Given the description of an element on the screen output the (x, y) to click on. 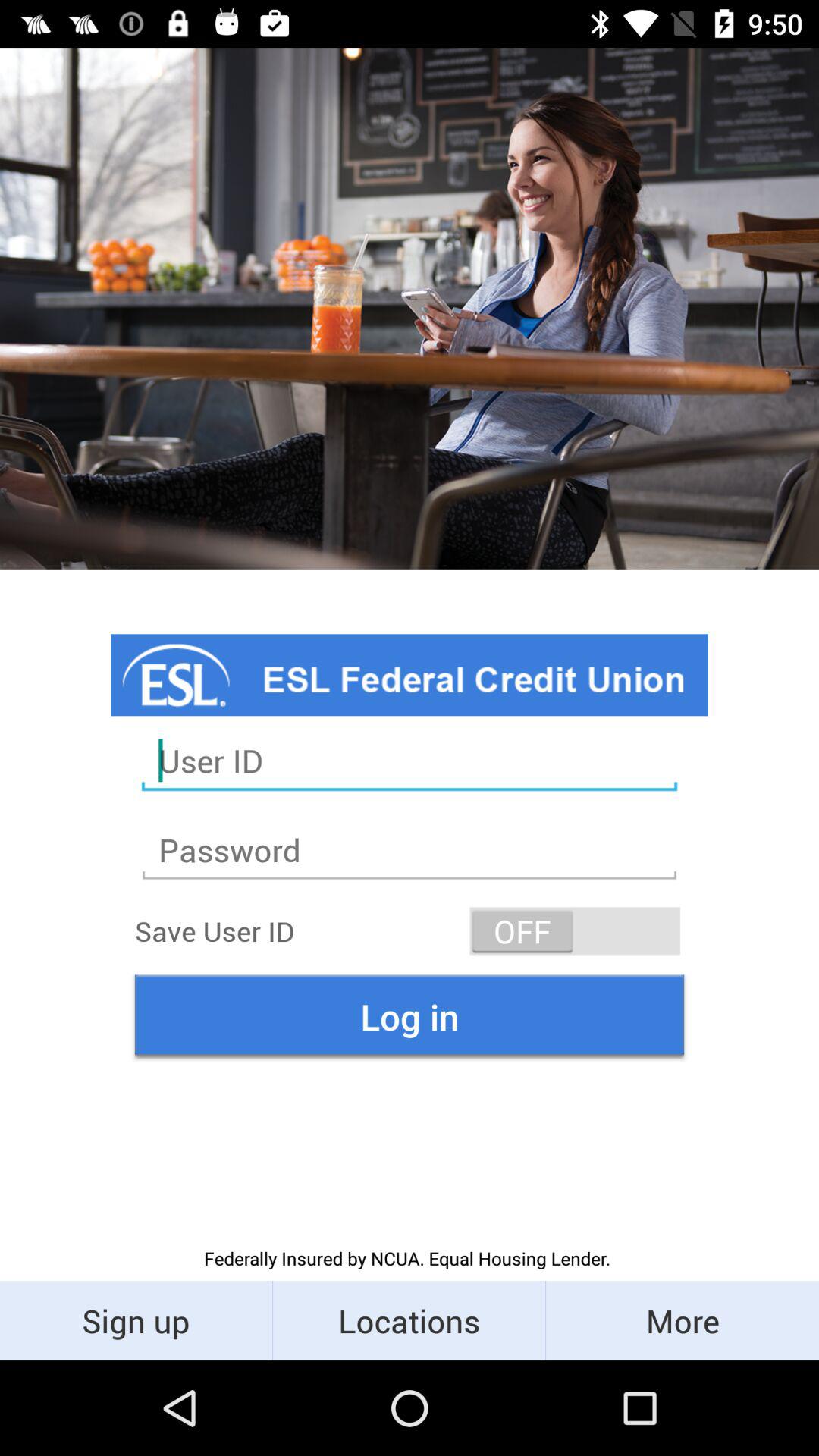
click the item below the federally insured by item (682, 1320)
